Given the description of an element on the screen output the (x, y) to click on. 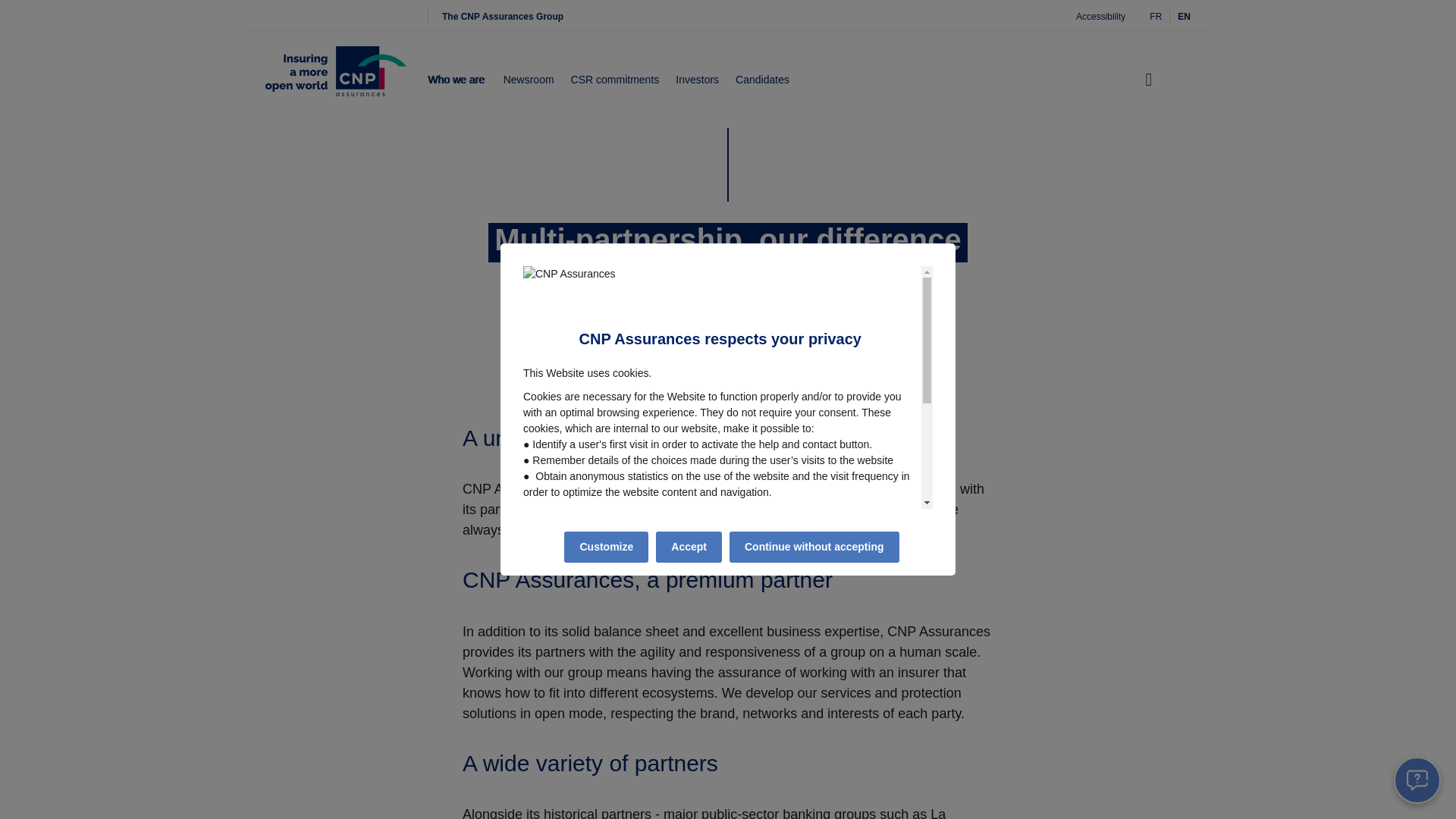
CNP Assurances - return to the homepage of the site (335, 80)
The CNP Assurances Group (502, 16)
